Given the description of an element on the screen output the (x, y) to click on. 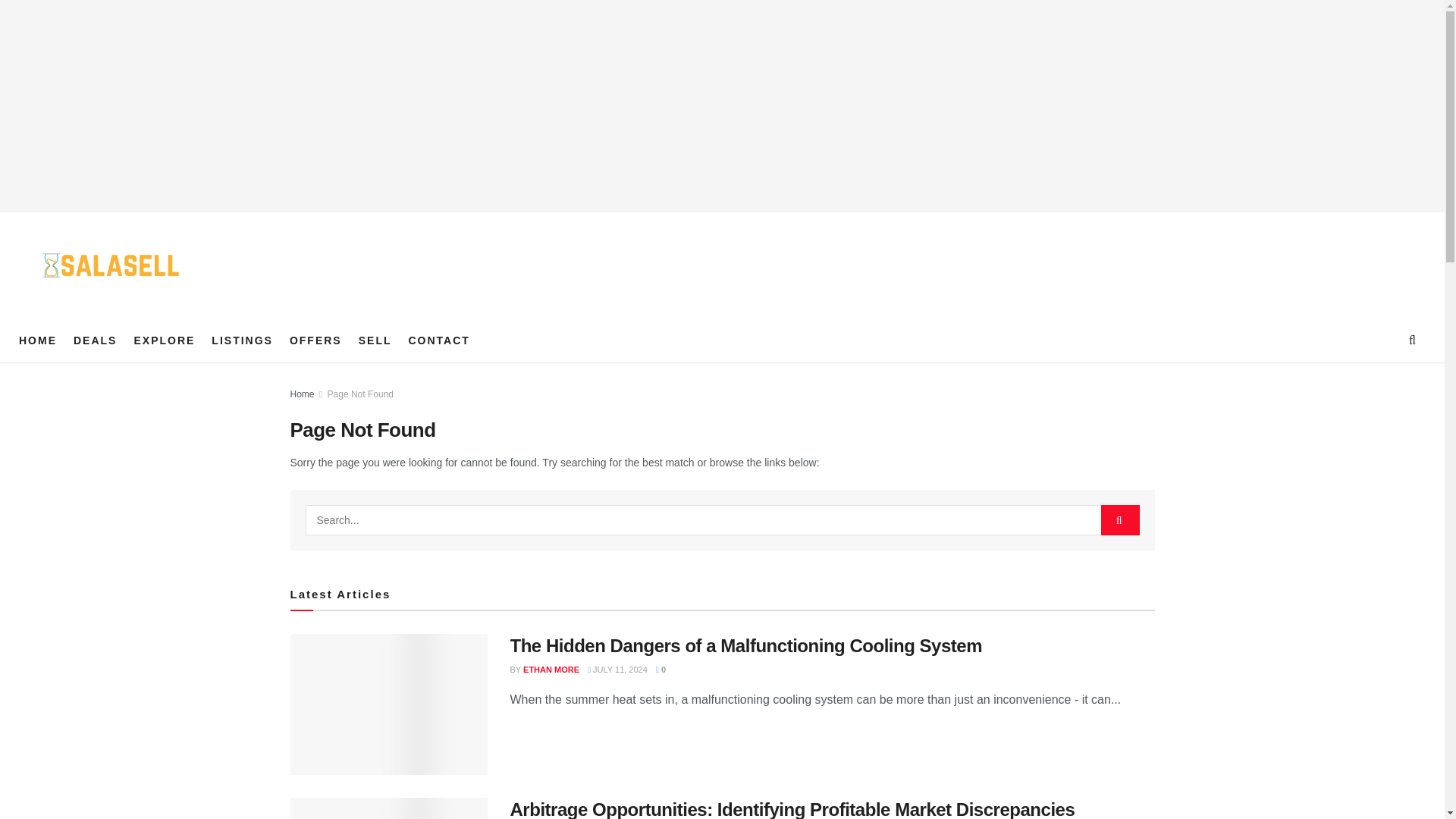
LISTINGS (242, 340)
OFFERS (315, 340)
DEALS (95, 340)
ETHAN MORE (550, 669)
Home (301, 394)
Page Not Found (360, 394)
The Hidden Dangers of a Malfunctioning Cooling System (745, 645)
JULY 11, 2024 (617, 669)
EXPLORE (164, 340)
0 (660, 669)
CONTACT (437, 340)
